Given the description of an element on the screen output the (x, y) to click on. 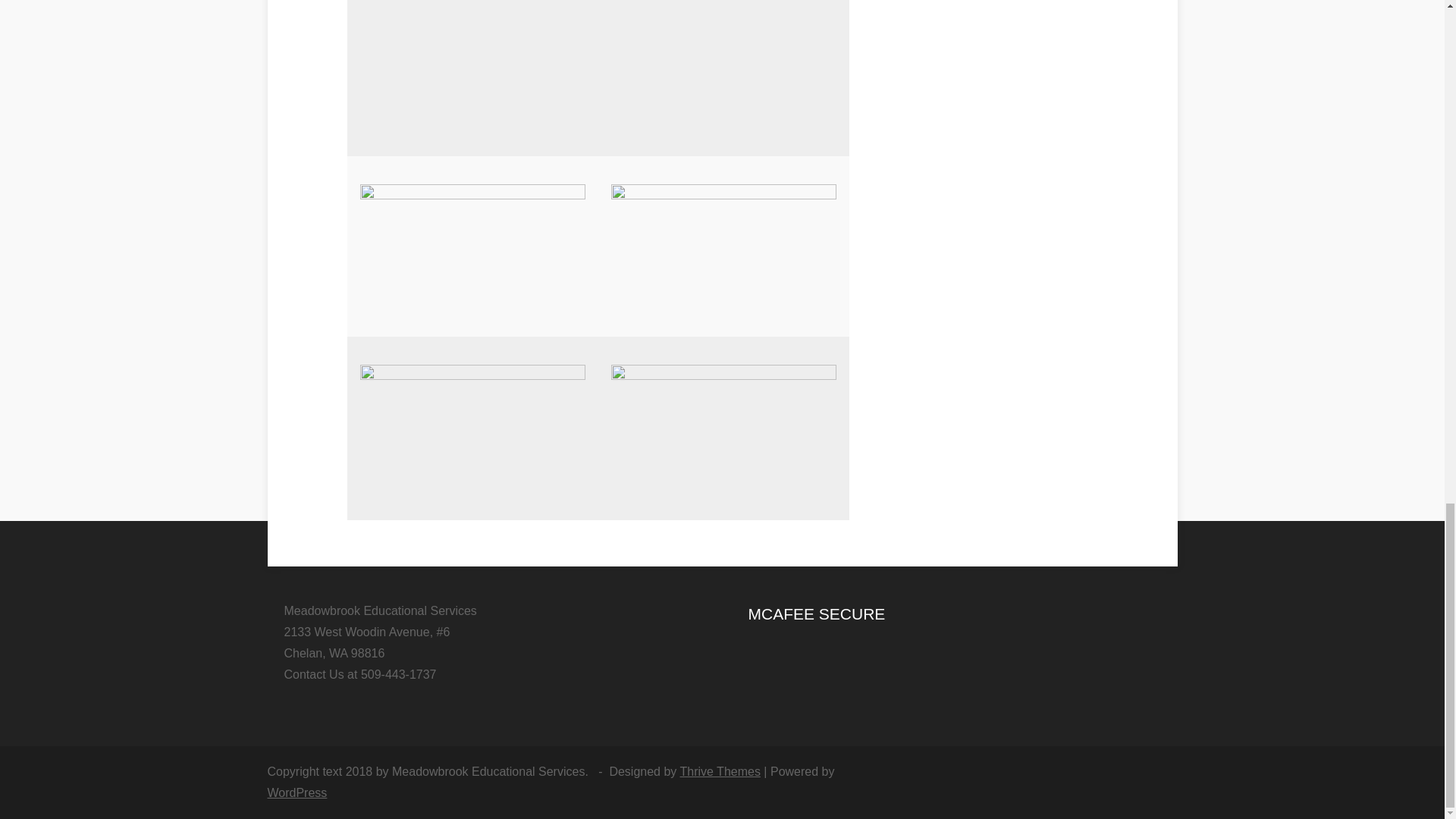
Thrive Themes (719, 771)
Kit Replentish 1 (723, 427)
Kit Replentish 8 (472, 240)
Kit Replentish 11 (724, 26)
Kit Replentish 7 (723, 246)
Kit Replentish 4 (472, 427)
WordPress (296, 792)
Kit Replentish 10 (467, 63)
